Given the description of an element on the screen output the (x, y) to click on. 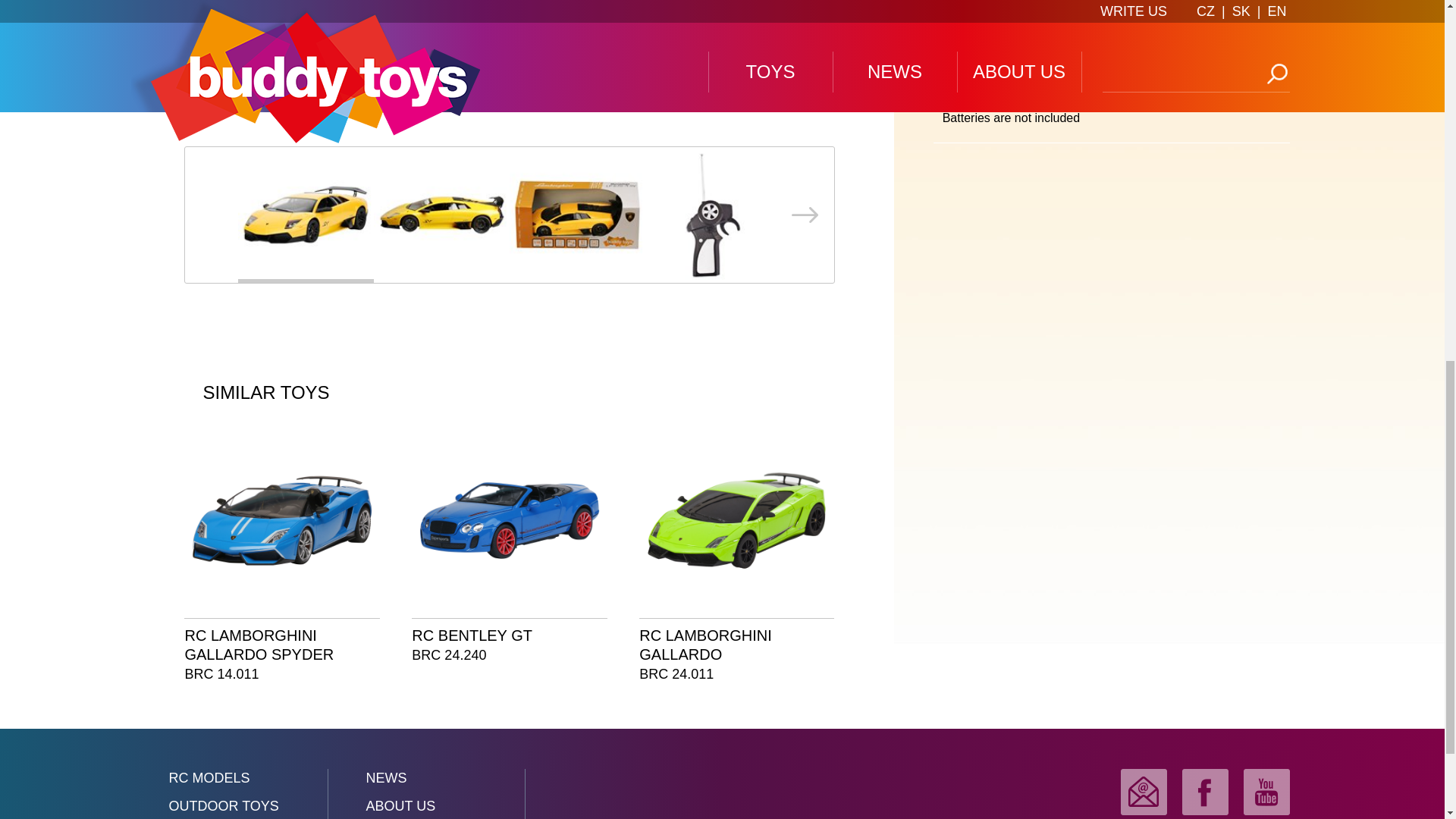
NEWS (425, 780)
RC MODELS (228, 780)
